Given the description of an element on the screen output the (x, y) to click on. 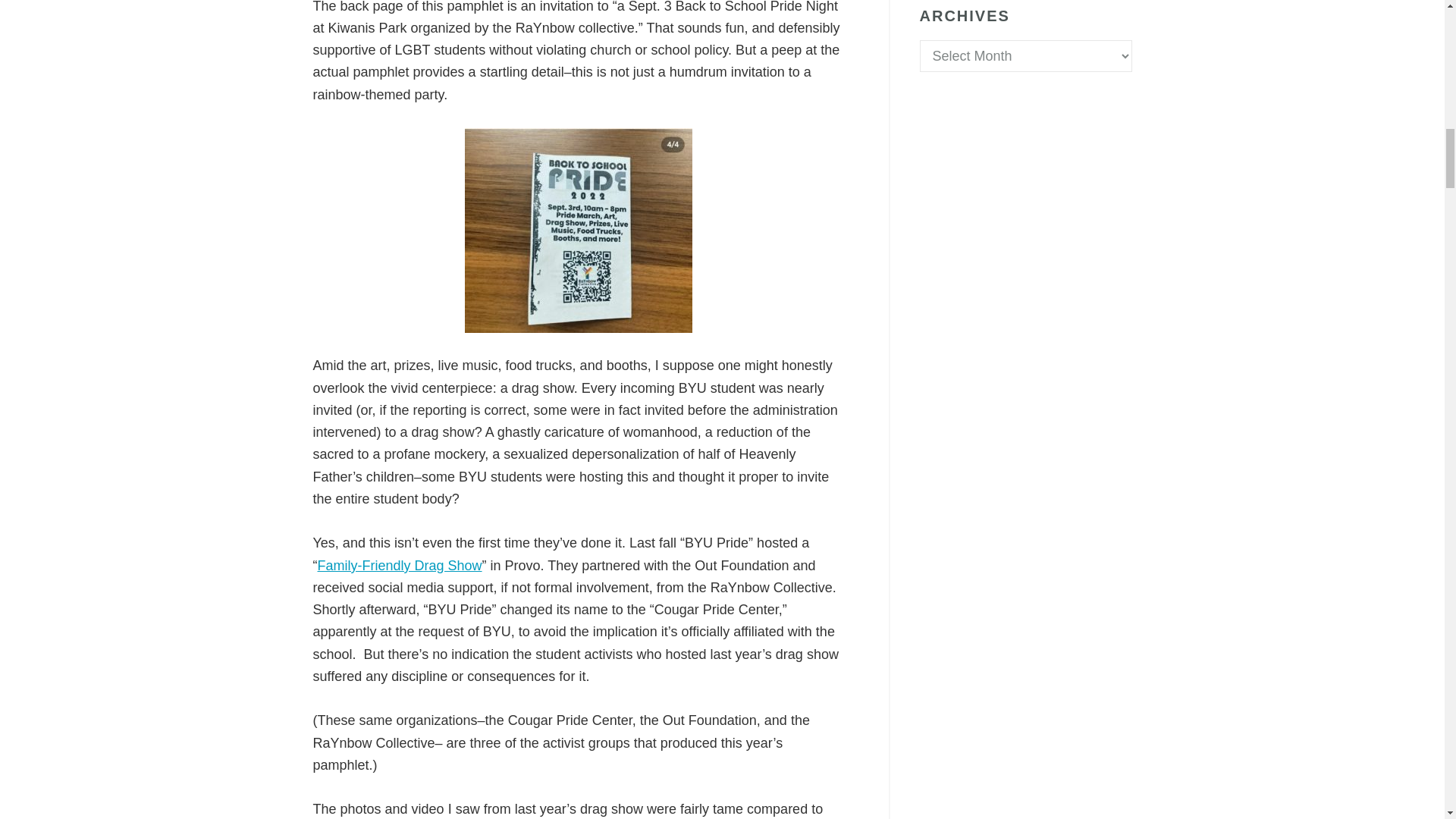
Family-Friendly Drag Show (399, 565)
